Given the description of an element on the screen output the (x, y) to click on. 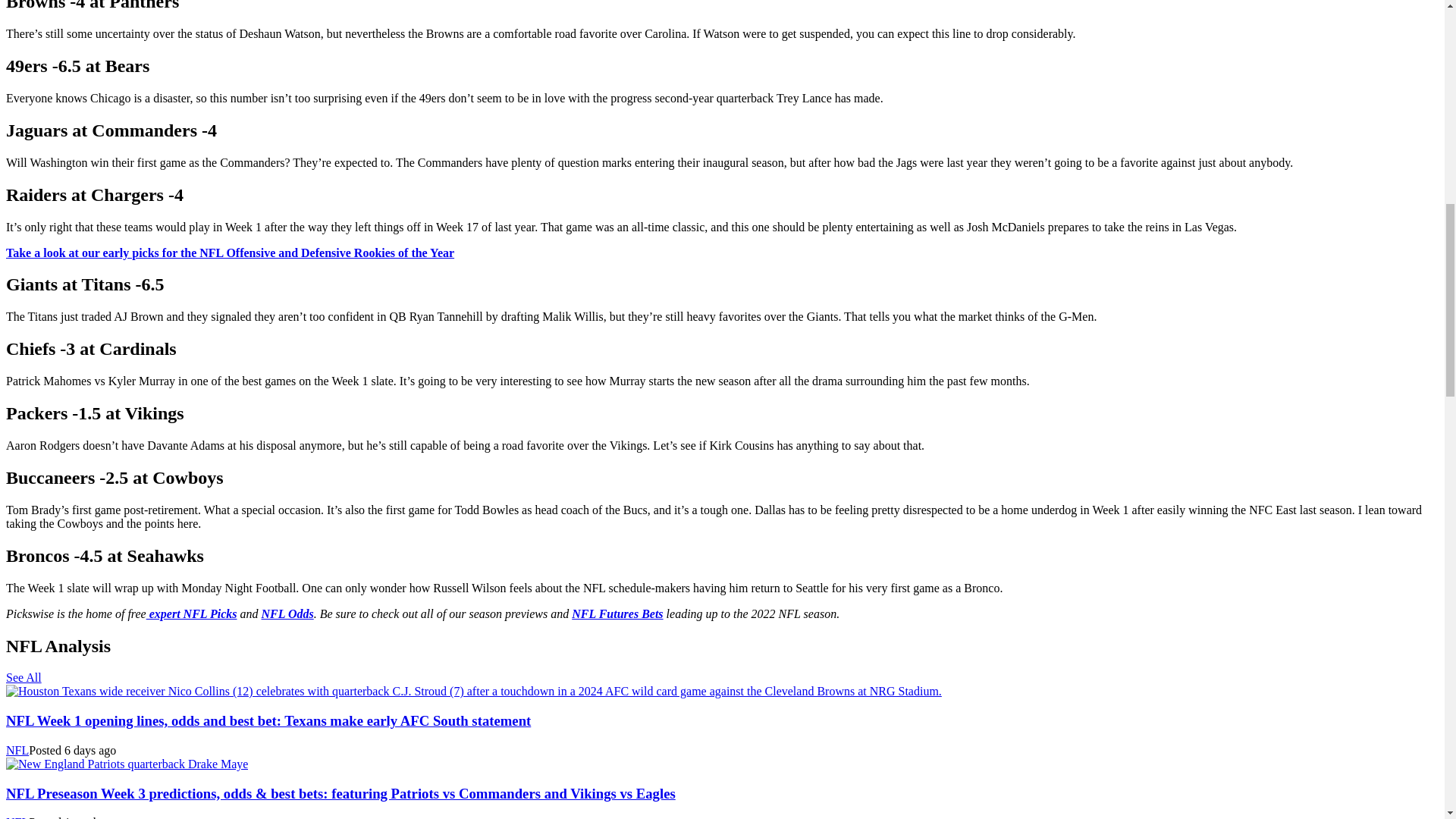
See All (23, 676)
NFL Futures Bets (617, 613)
NFL (17, 817)
NFL Odds (288, 613)
NFL (17, 749)
expert NFL Picks (192, 613)
